Given the description of an element on the screen output the (x, y) to click on. 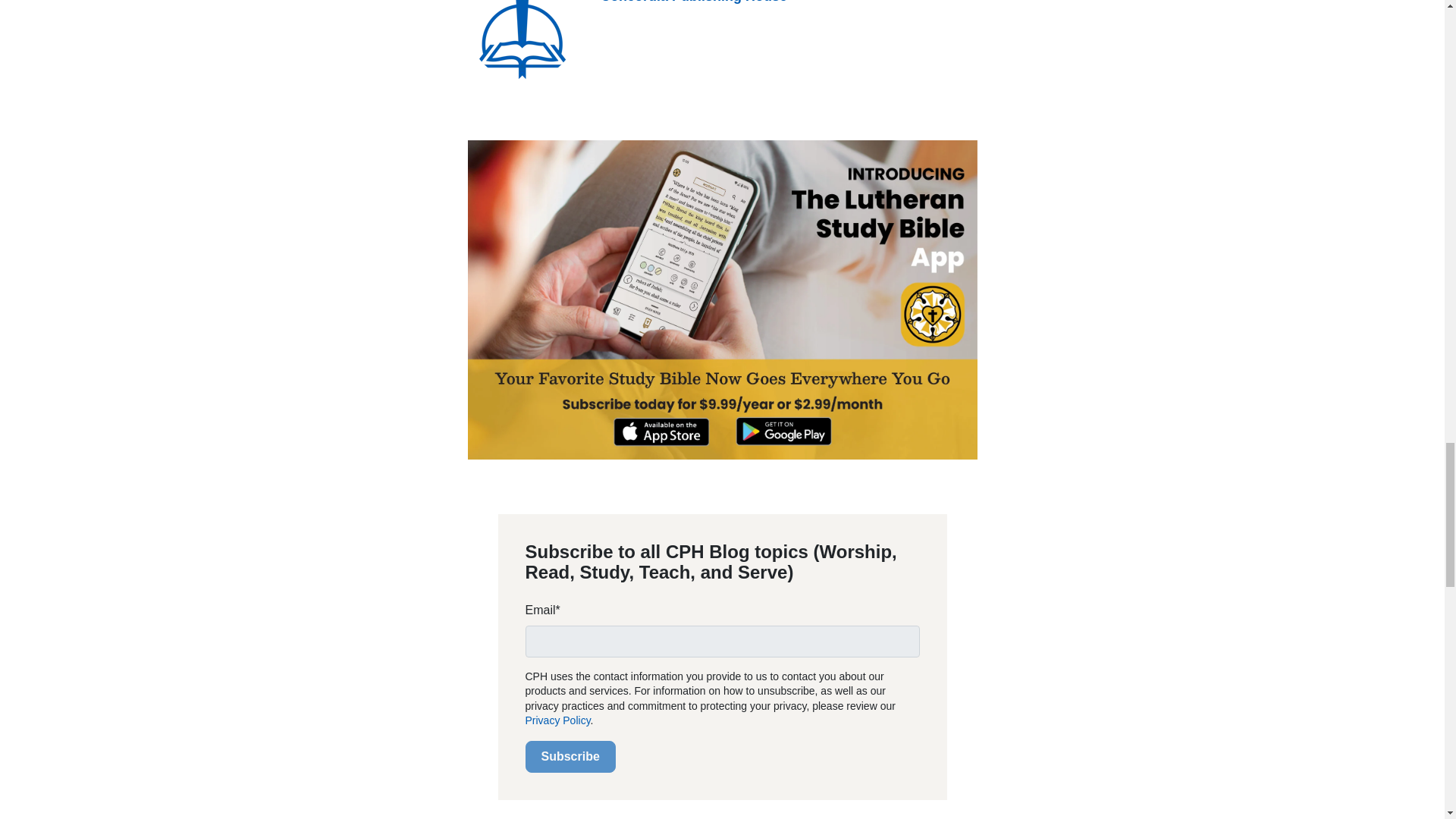
Privacy Policy (556, 720)
Subscribe (569, 757)
Subscribe (569, 757)
Concordia Publishing House (693, 2)
